Given the description of an element on the screen output the (x, y) to click on. 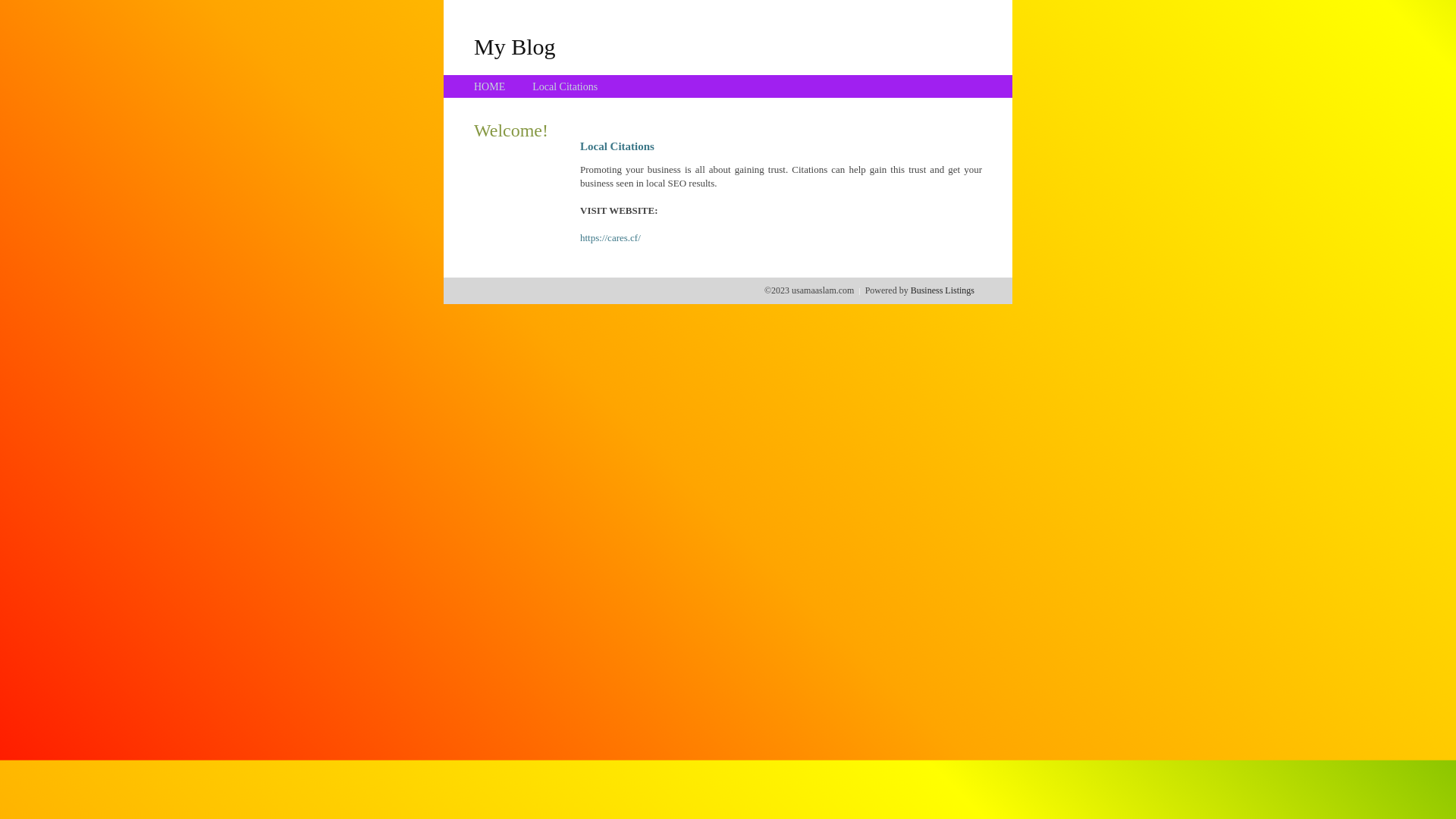
Business Listings Element type: text (942, 290)
Local Citations Element type: text (564, 86)
HOME Element type: text (489, 86)
My Blog Element type: text (514, 46)
https://cares.cf/ Element type: text (610, 237)
